Given the description of an element on the screen output the (x, y) to click on. 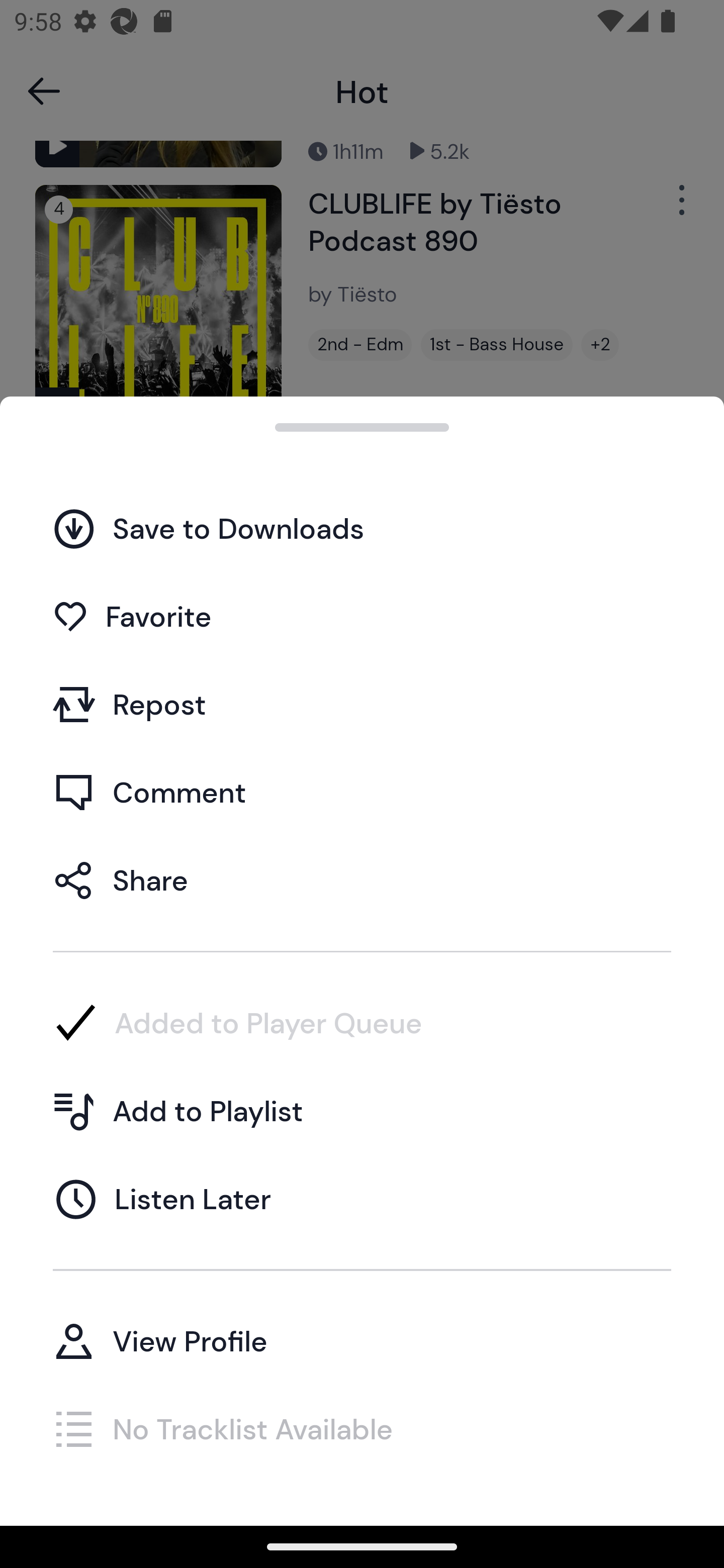
Save to Downloads (361, 528)
Favorite (361, 616)
Repost (361, 703)
Comment (361, 791)
Share (361, 879)
Add to Playlist (361, 1110)
Listen Later (361, 1199)
View Profile (361, 1340)
No Tracklist Available (361, 1428)
